Given the description of an element on the screen output the (x, y) to click on. 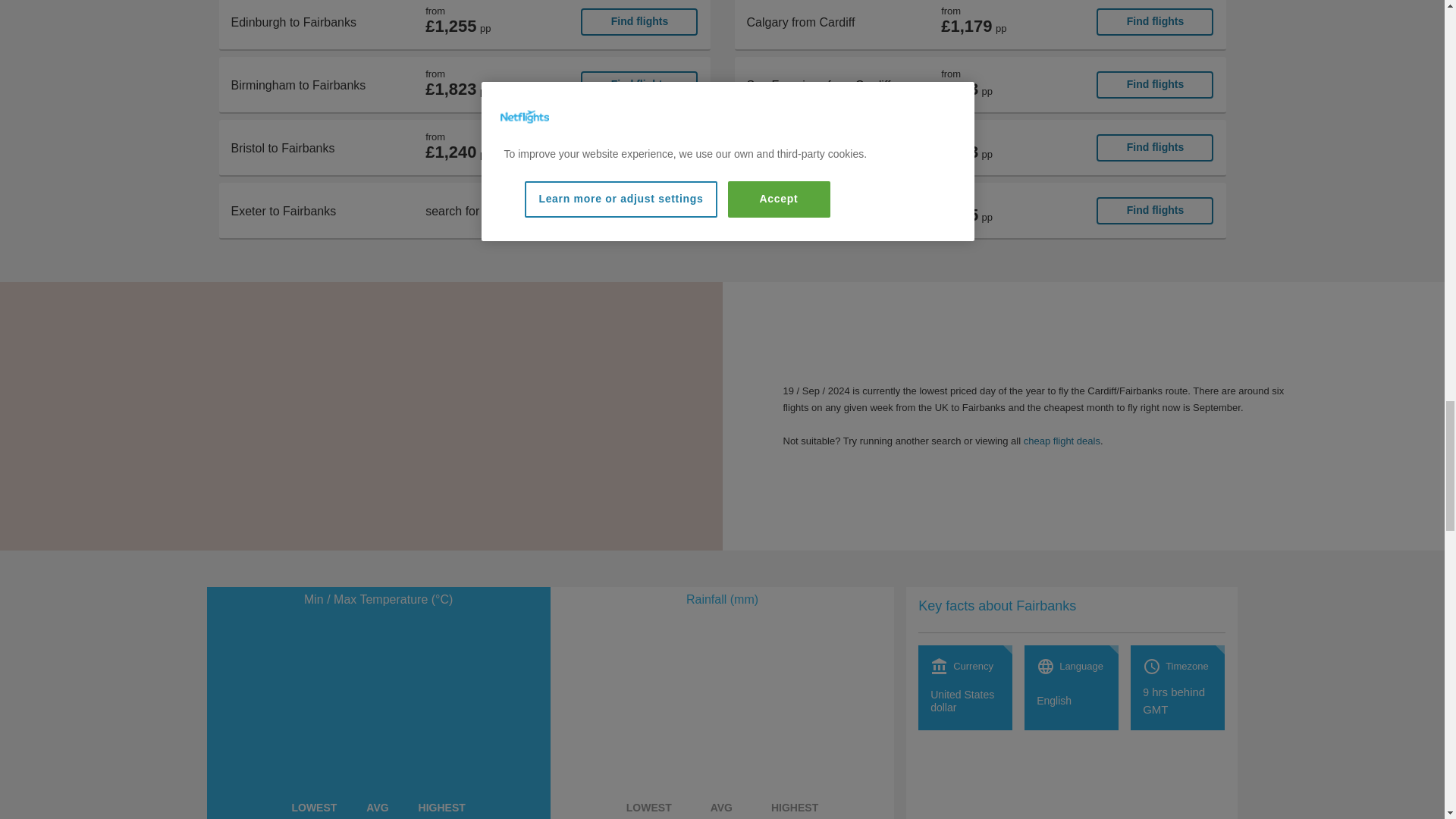
cheap flight deals (1061, 440)
United States dollar (965, 701)
English (1053, 700)
